Given the description of an element on the screen output the (x, y) to click on. 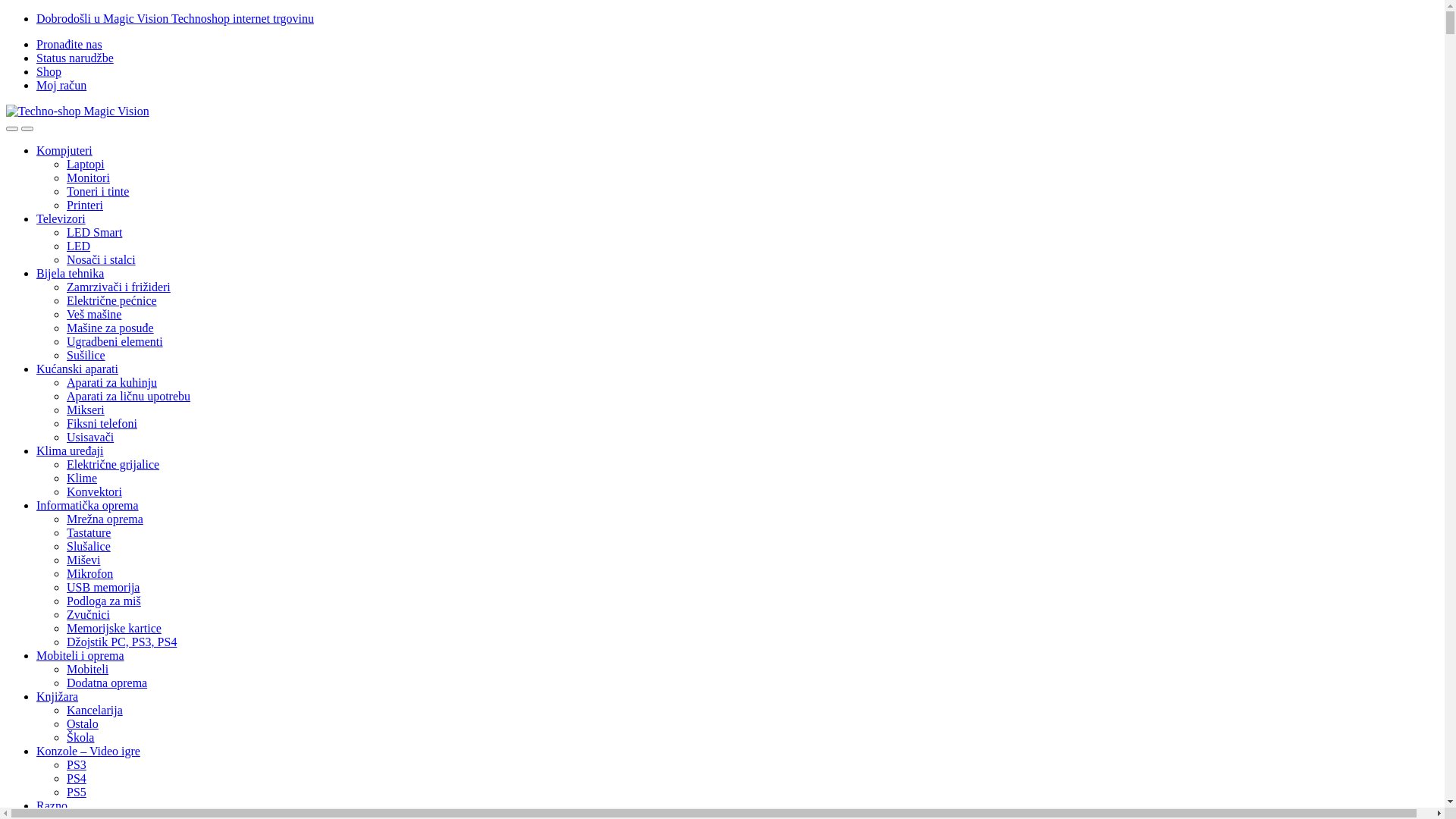
LED Smart Element type: text (94, 231)
Mikseri Element type: text (85, 409)
Bijela tehnika Element type: text (69, 272)
PS3 Element type: text (76, 764)
Memorijske kartice Element type: text (113, 627)
Klime Element type: text (81, 477)
Fiksni telefoni Element type: text (101, 423)
LED Element type: text (78, 245)
Kancelarija Element type: text (94, 709)
Mobiteli i oprema Element type: text (80, 655)
Konvektori Element type: text (94, 491)
Tastature Element type: text (88, 532)
Razno Element type: text (51, 805)
Mobiteli Element type: text (87, 668)
Ostalo Element type: text (82, 723)
Monitori Element type: text (87, 177)
PS5 Element type: text (76, 791)
Skip to navigation Element type: text (5, 11)
Dodatna oprema Element type: text (106, 682)
Laptopi Element type: text (85, 163)
USB memorija Element type: text (102, 586)
Ugradbeni elementi Element type: text (114, 341)
Toneri i tinte Element type: text (97, 191)
Mikrofon Element type: text (89, 573)
PS4 Element type: text (76, 777)
Kompjuteri Element type: text (64, 150)
Aparati za kuhinju Element type: text (111, 382)
Shop Element type: text (48, 71)
Televizori Element type: text (60, 218)
Printeri Element type: text (84, 204)
